Given the description of an element on the screen output the (x, y) to click on. 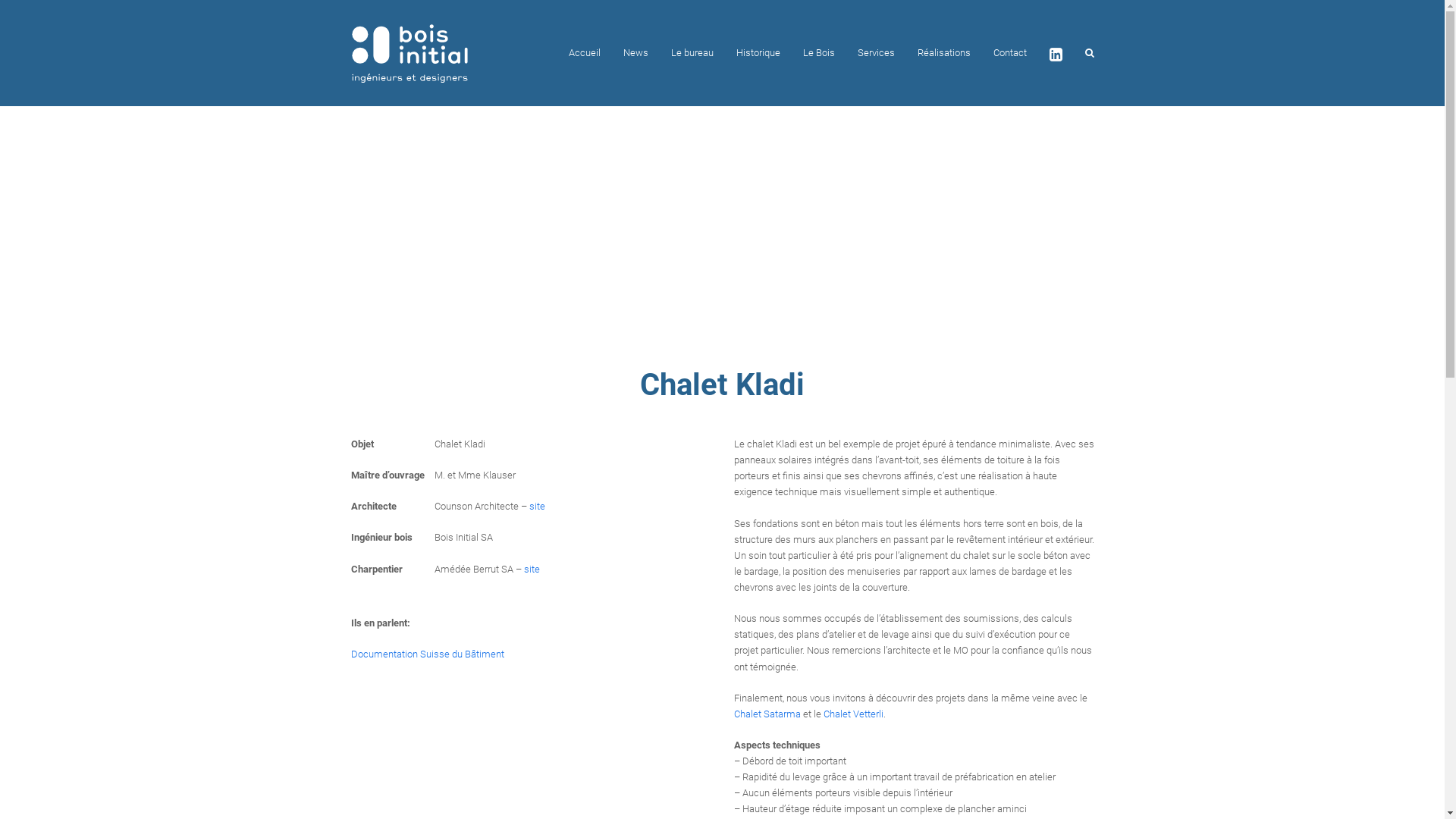
News Element type: text (634, 53)
Accueil Element type: text (583, 53)
Contact Element type: text (1009, 53)
Chalet Satarma Element type: text (767, 713)
Chalet Vetterli Element type: text (853, 713)
site Element type: text (531, 568)
Historique Element type: text (757, 53)
Services Element type: text (876, 53)
Le bureau Element type: text (691, 53)
Le Bois Element type: text (818, 53)
site Element type: text (537, 505)
